Given the description of an element on the screen output the (x, y) to click on. 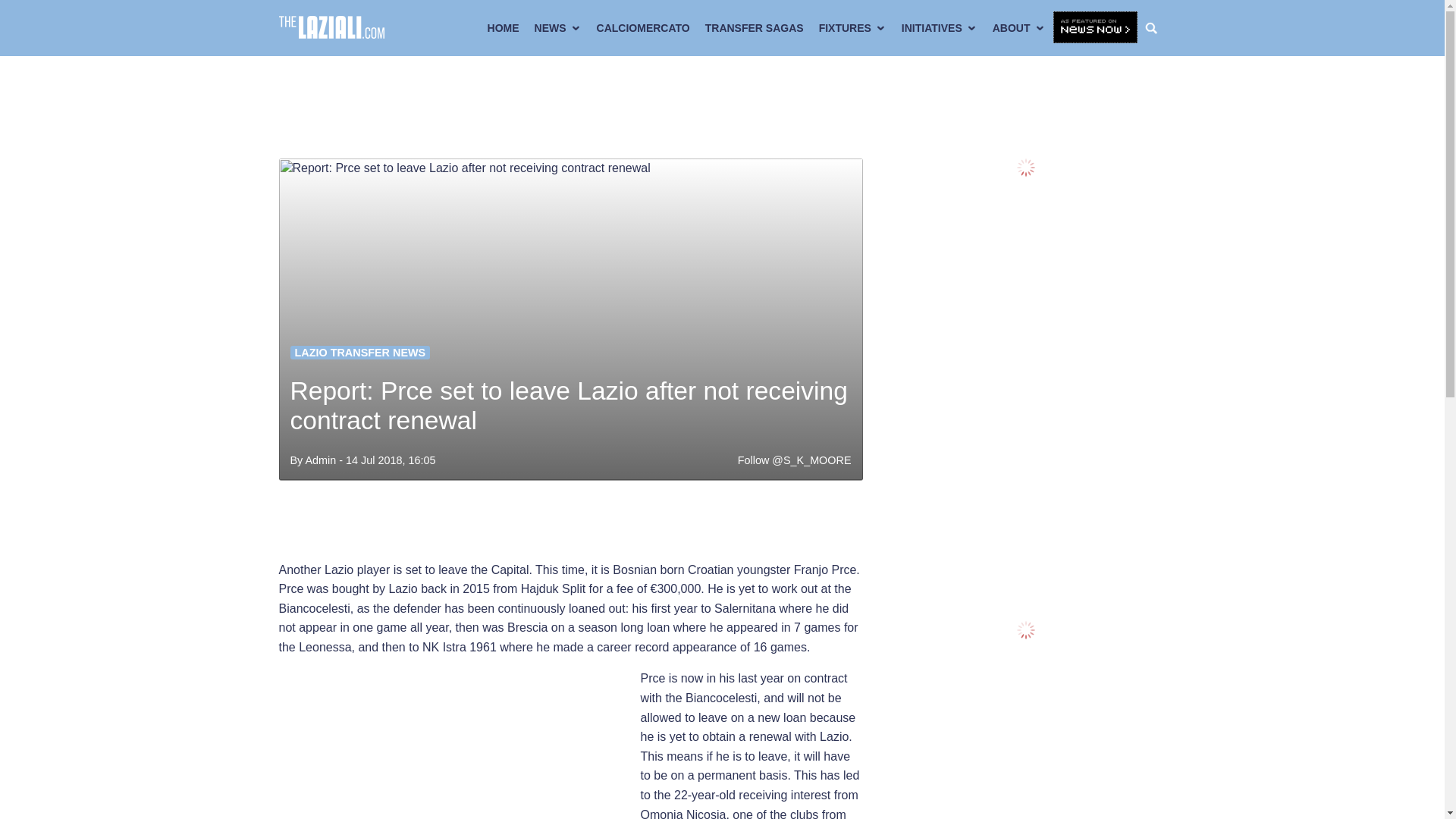
ABOUT (1018, 28)
Latest Lazio Transfer News News (359, 352)
FIXTURES (851, 28)
Click here for more Lazio news from NewsNow (1094, 28)
CALCIOMERCATO (643, 28)
Search (1155, 28)
HOME (503, 28)
INITIATIVES (939, 28)
TRANSFER SAGAS (753, 28)
NEWS (558, 28)
